Given the description of an element on the screen output the (x, y) to click on. 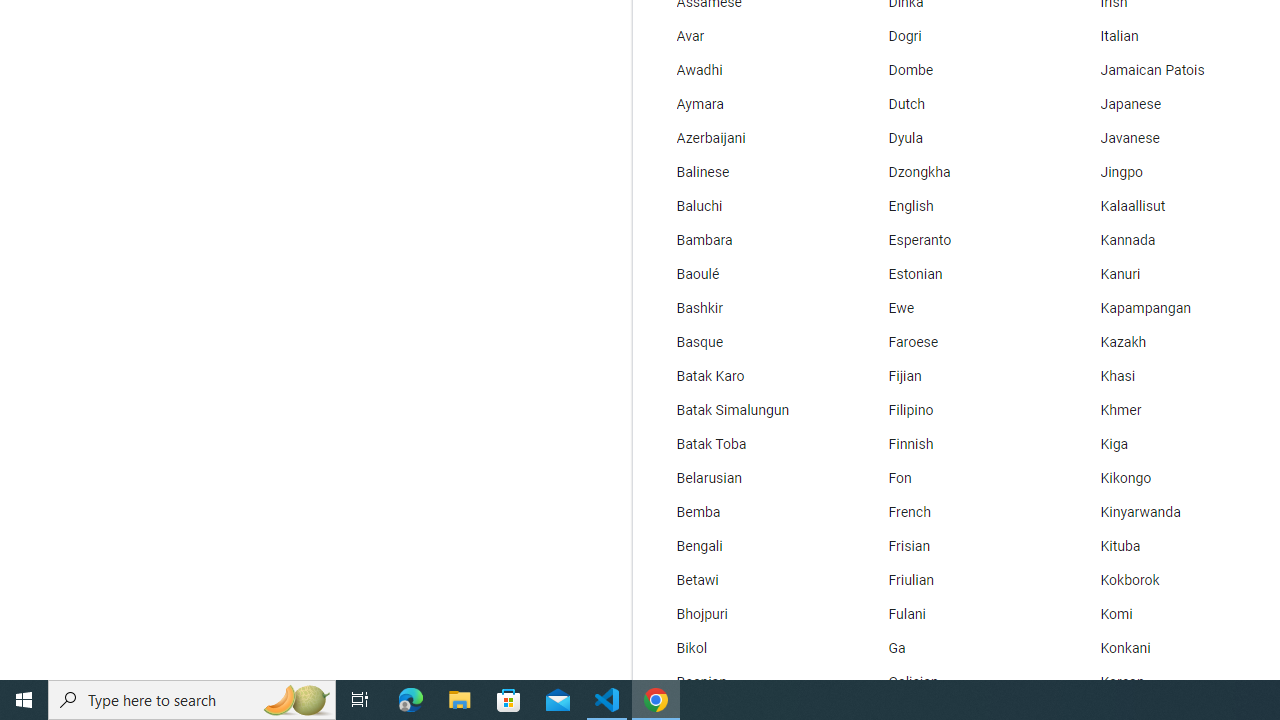
Ewe (957, 308)
Belarusian (745, 478)
Balinese (745, 172)
Javanese (1168, 138)
Baluchi (745, 206)
Bashkir (745, 308)
Esperanto (957, 240)
Kapampangan (1168, 308)
Filipino (957, 410)
Dyula (957, 138)
Khmer (1168, 410)
Batak Toba (745, 444)
Fijian (957, 376)
Jamaican Patois (1168, 70)
Kannada (1168, 240)
